Given the description of an element on the screen output the (x, y) to click on. 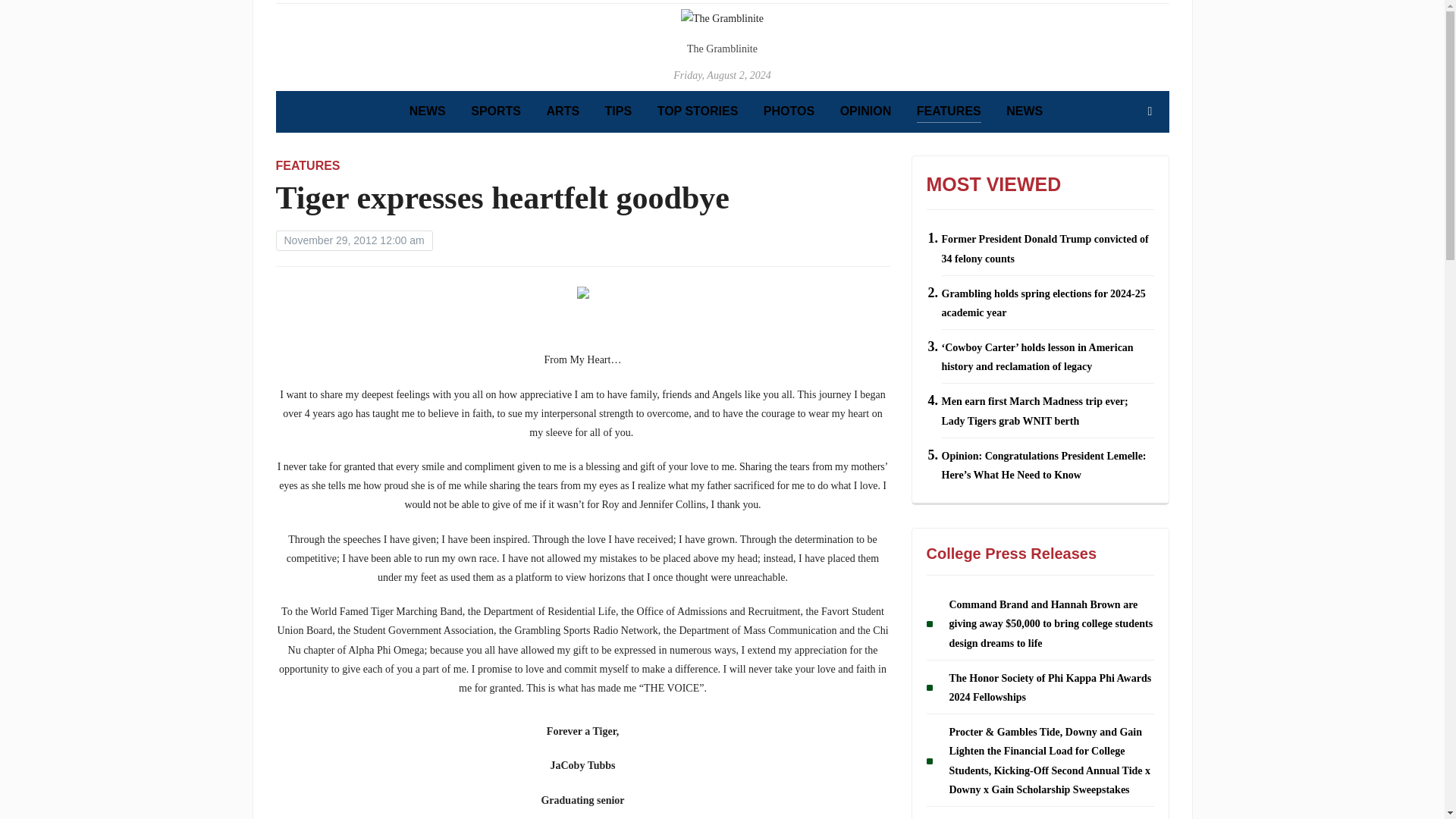
PHOTOS (787, 111)
The Honor Society of Phi Kappa Phi Awards 2024 Fellowships (1050, 687)
OPINION (865, 111)
ARTS (563, 111)
The Honor Society of Phi Kappa Phi Awards 2024 Fellowships (1050, 687)
Former President Donald Trump convicted of 34 felony counts (1045, 248)
Search (1149, 111)
FEATURES (308, 164)
TIPS (618, 111)
TOP STORIES (698, 111)
Grambling holds spring elections for 2024-25 academic year (1043, 303)
